Given the description of an element on the screen output the (x, y) to click on. 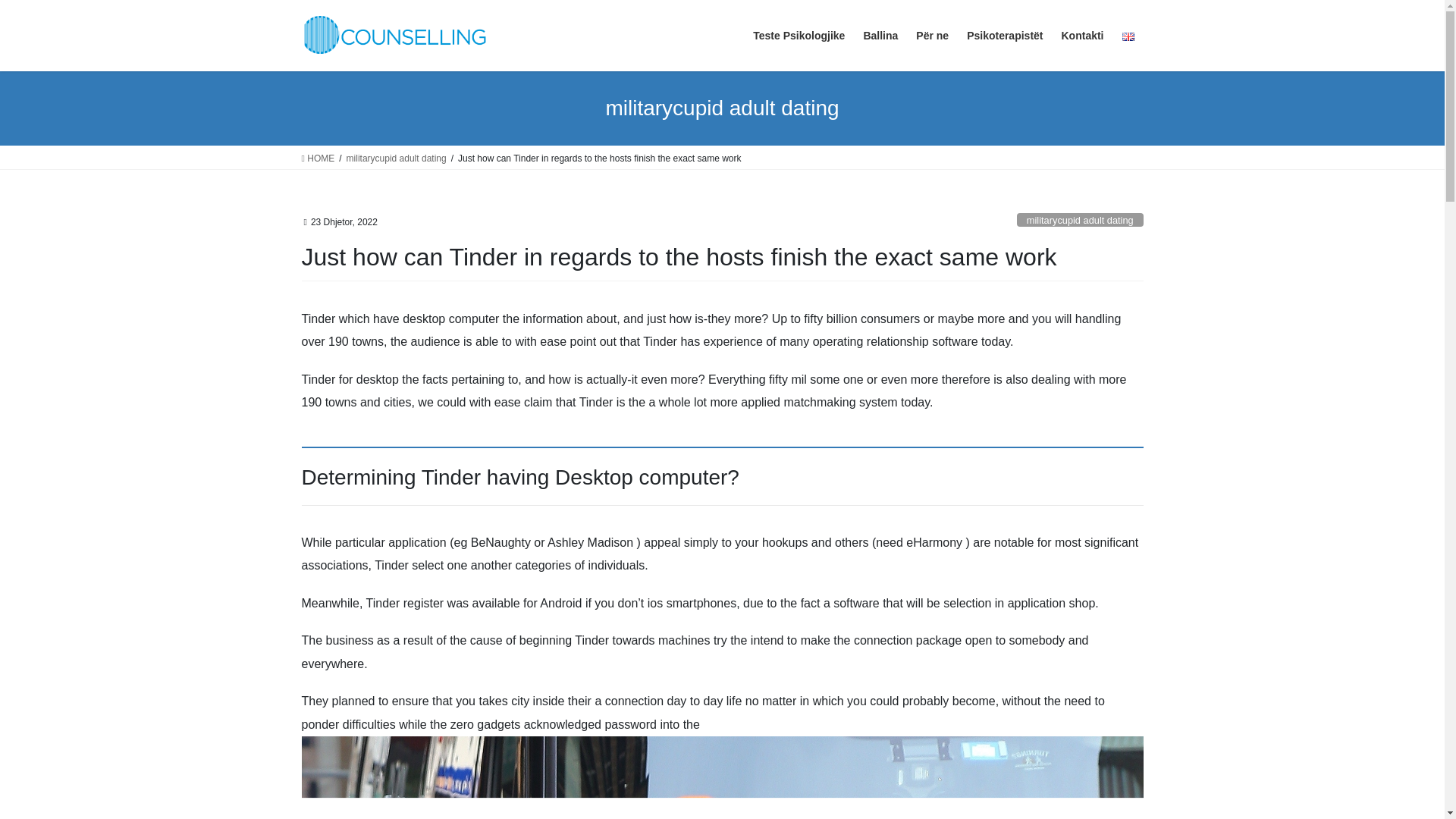
militarycupid adult dating (1079, 219)
HOME (317, 157)
militarycupid adult dating (396, 157)
Kontakti (1082, 36)
Ballina (880, 36)
Teste Psikologjike (798, 36)
